Given the description of an element on the screen output the (x, y) to click on. 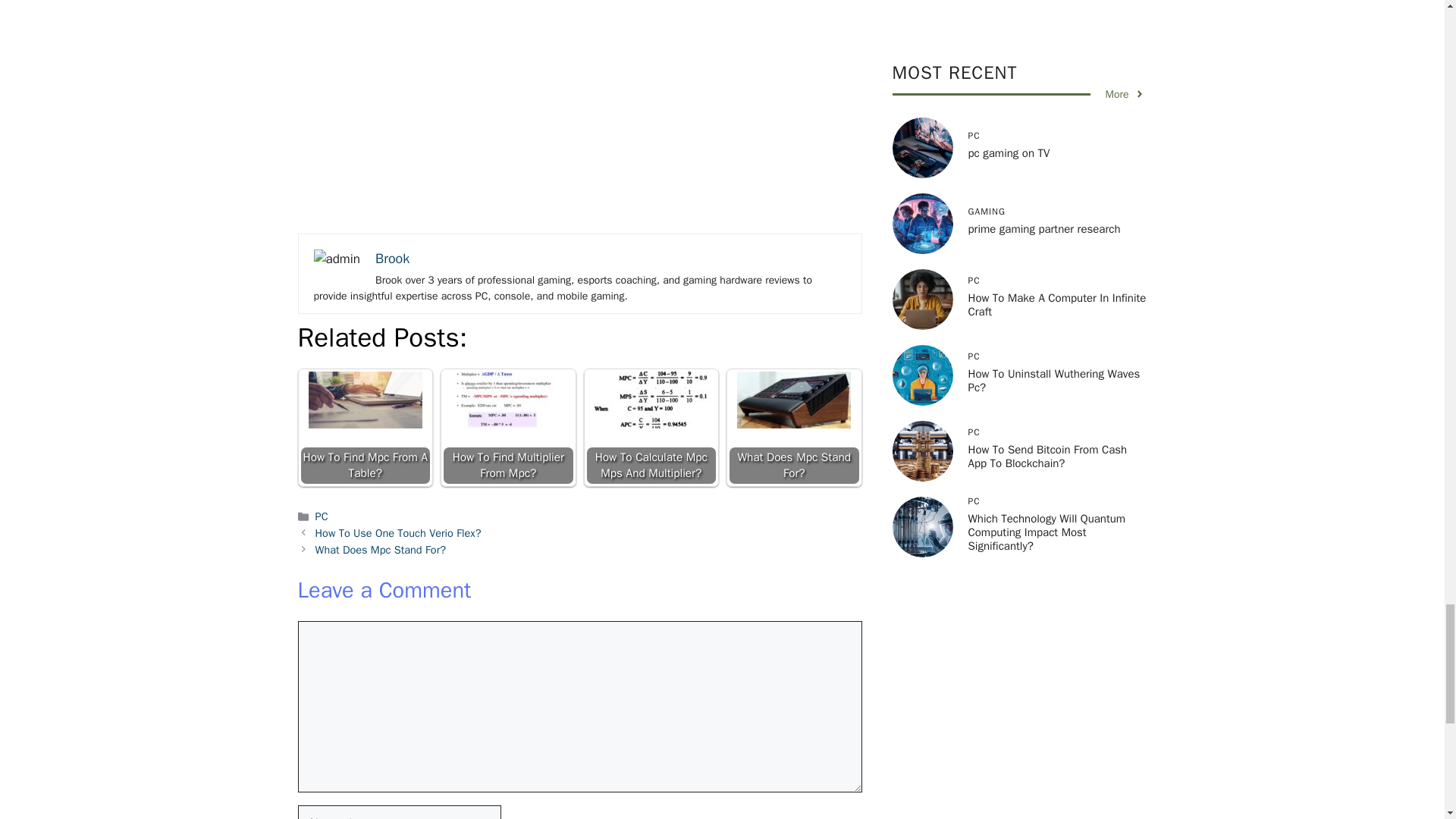
How To Calculate Mpc Mps And Multiplier? (650, 427)
What Does Mpc Stand For? (793, 427)
Brook (392, 258)
How To Use One Touch Verio Flex? (398, 532)
PC (322, 516)
How To Find Mpc From A Table? (365, 427)
What Does Mpc Stand For? (380, 549)
How To Find Multiplier From Mpc? (508, 427)
